Given the description of an element on the screen output the (x, y) to click on. 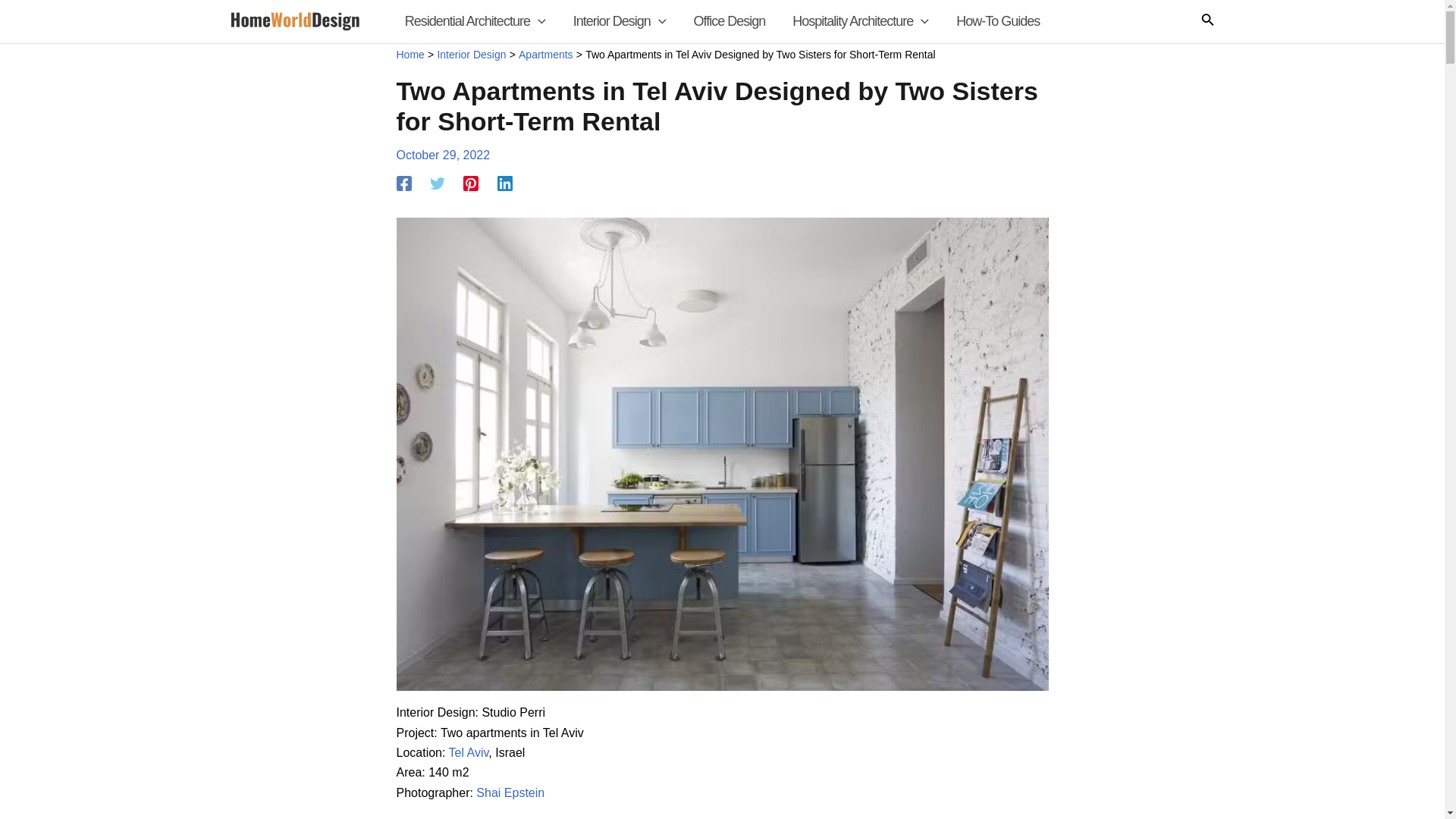
How-To Guides (997, 21)
Hospitality Architecture (860, 21)
Interior Design (619, 21)
Office Design (728, 21)
Residential Architecture (475, 21)
